Given the description of an element on the screen output the (x, y) to click on. 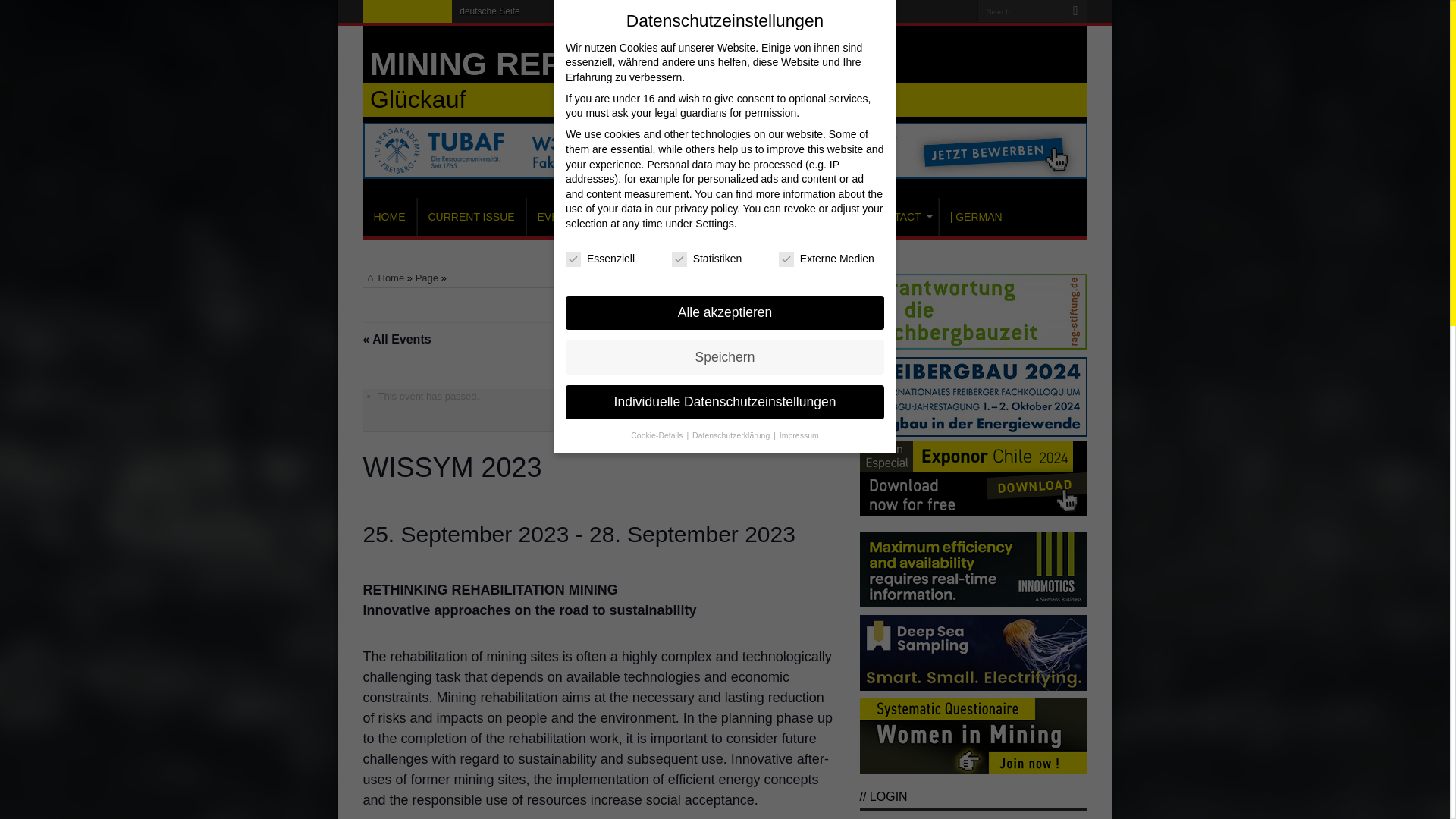
Search (1075, 11)
CONTACT (898, 216)
Events (558, 216)
Home (383, 277)
Search... (1020, 11)
deutsche Seite (489, 11)
ONLINE-KIOSK (806, 216)
Page (426, 277)
